Given the description of an element on the screen output the (x, y) to click on. 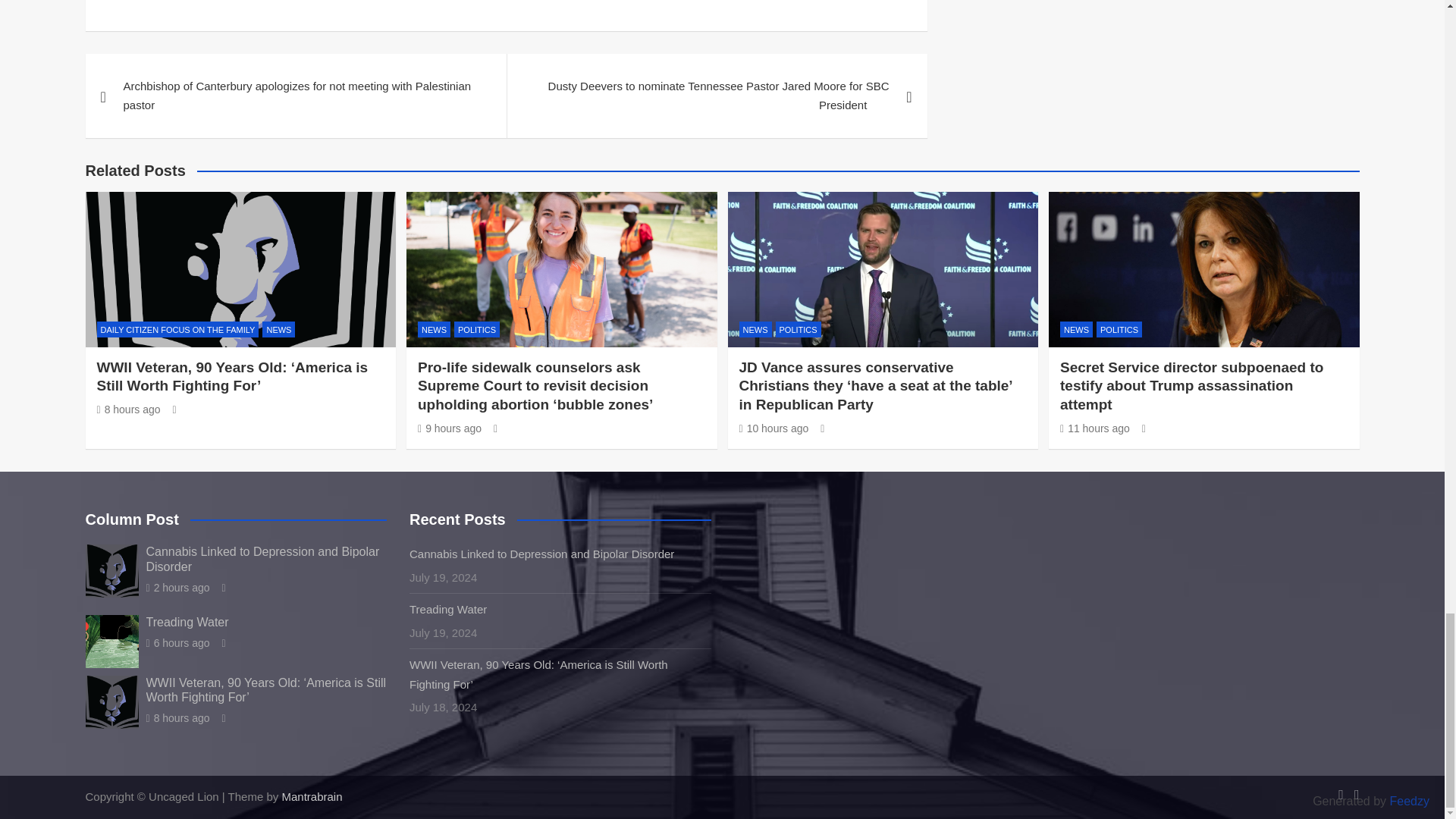
Mantrabrain (311, 796)
Cannabis Linked to Depression and Bipolar Disorder (177, 587)
Treading Water (177, 643)
